Given the description of an element on the screen output the (x, y) to click on. 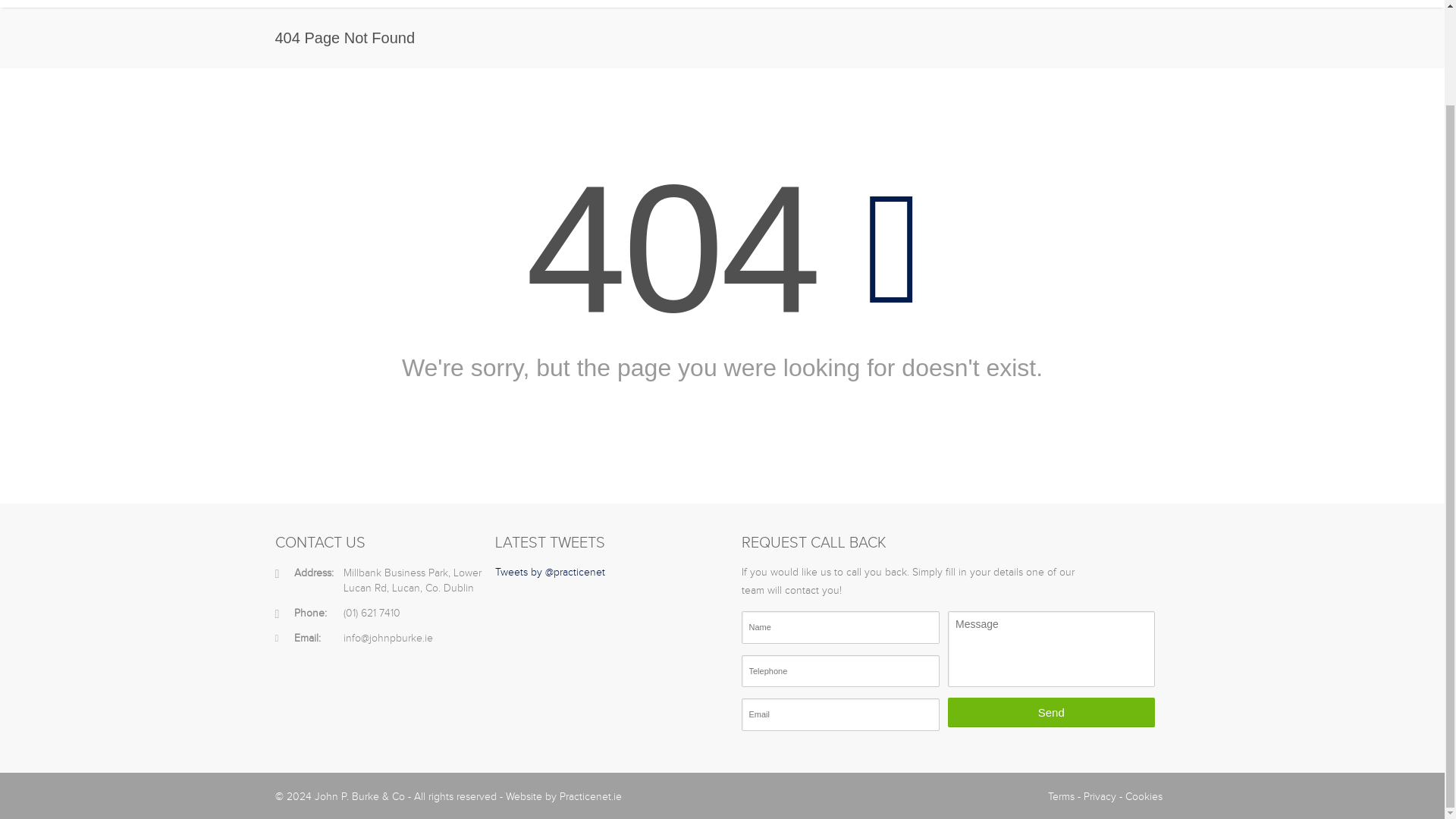
Home (608, 3)
Terms (1061, 797)
Services (726, 3)
Practice News (1003, 3)
About (665, 3)
Cookies (1143, 797)
Send (1050, 712)
Resources (863, 3)
Privacy (1099, 797)
Contact Us (1136, 3)
Practicenet.ie (590, 797)
Send (1050, 712)
Tax Info (792, 3)
Pay (1074, 3)
News (929, 3)
